Given the description of an element on the screen output the (x, y) to click on. 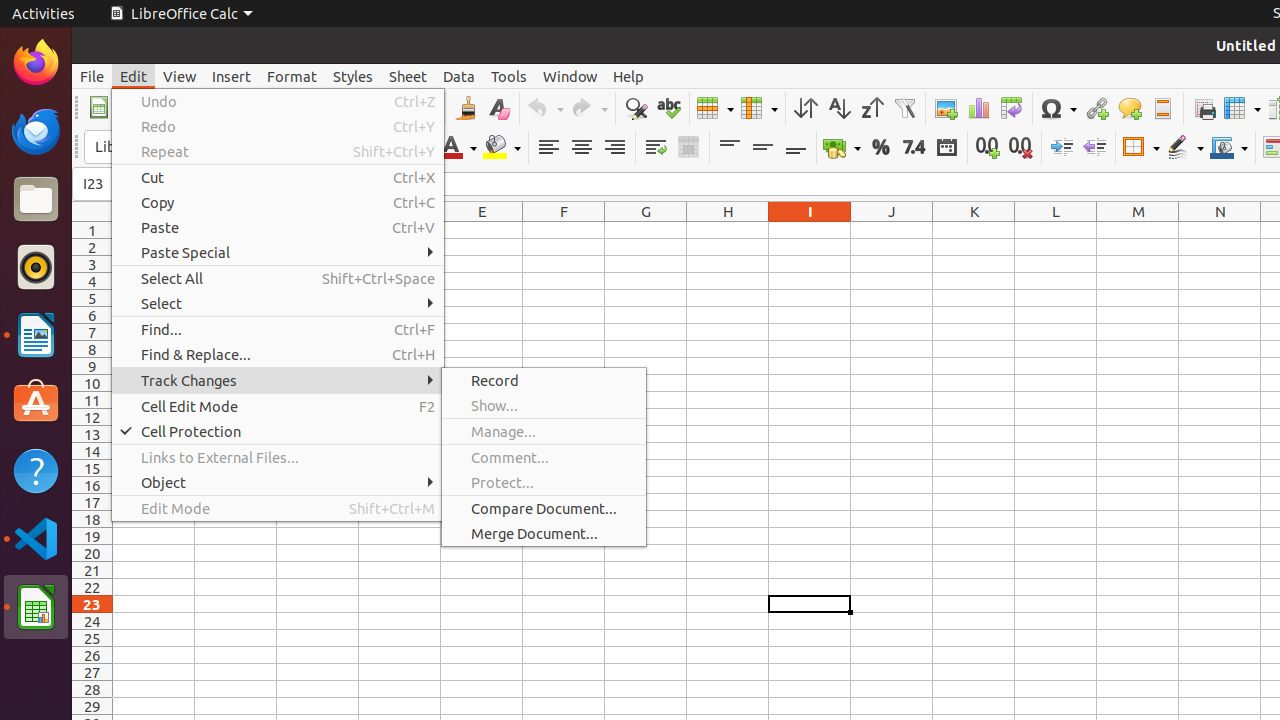
G1 Element type: table-cell (646, 230)
Format Element type: menu (292, 76)
Increase Element type: push-button (1061, 147)
Clone Element type: push-button (465, 108)
Freeze Rows and Columns Element type: push-button (1242, 108)
